Given the description of an element on the screen output the (x, y) to click on. 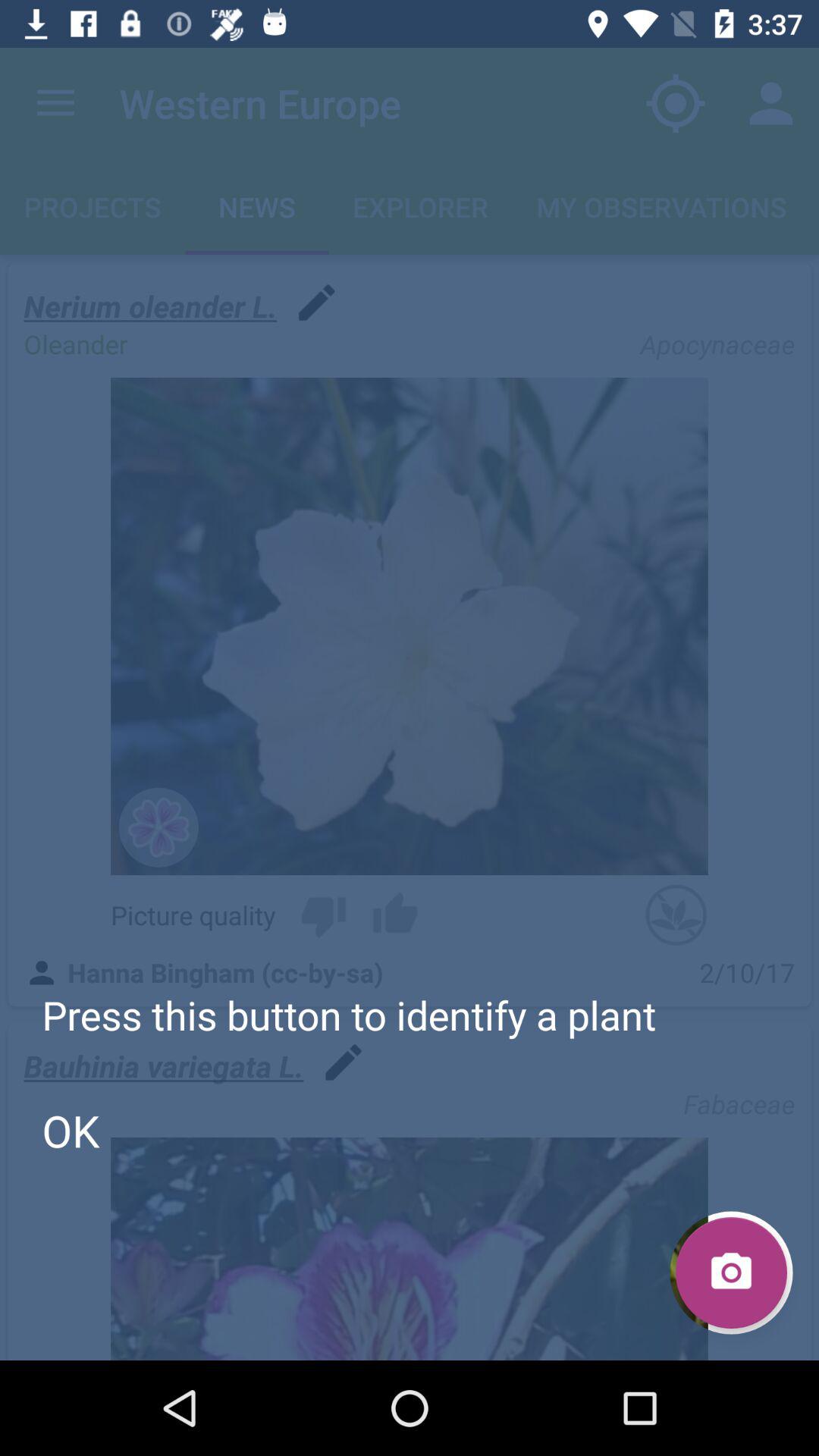
click the item above the my observations (771, 103)
